Given the description of an element on the screen output the (x, y) to click on. 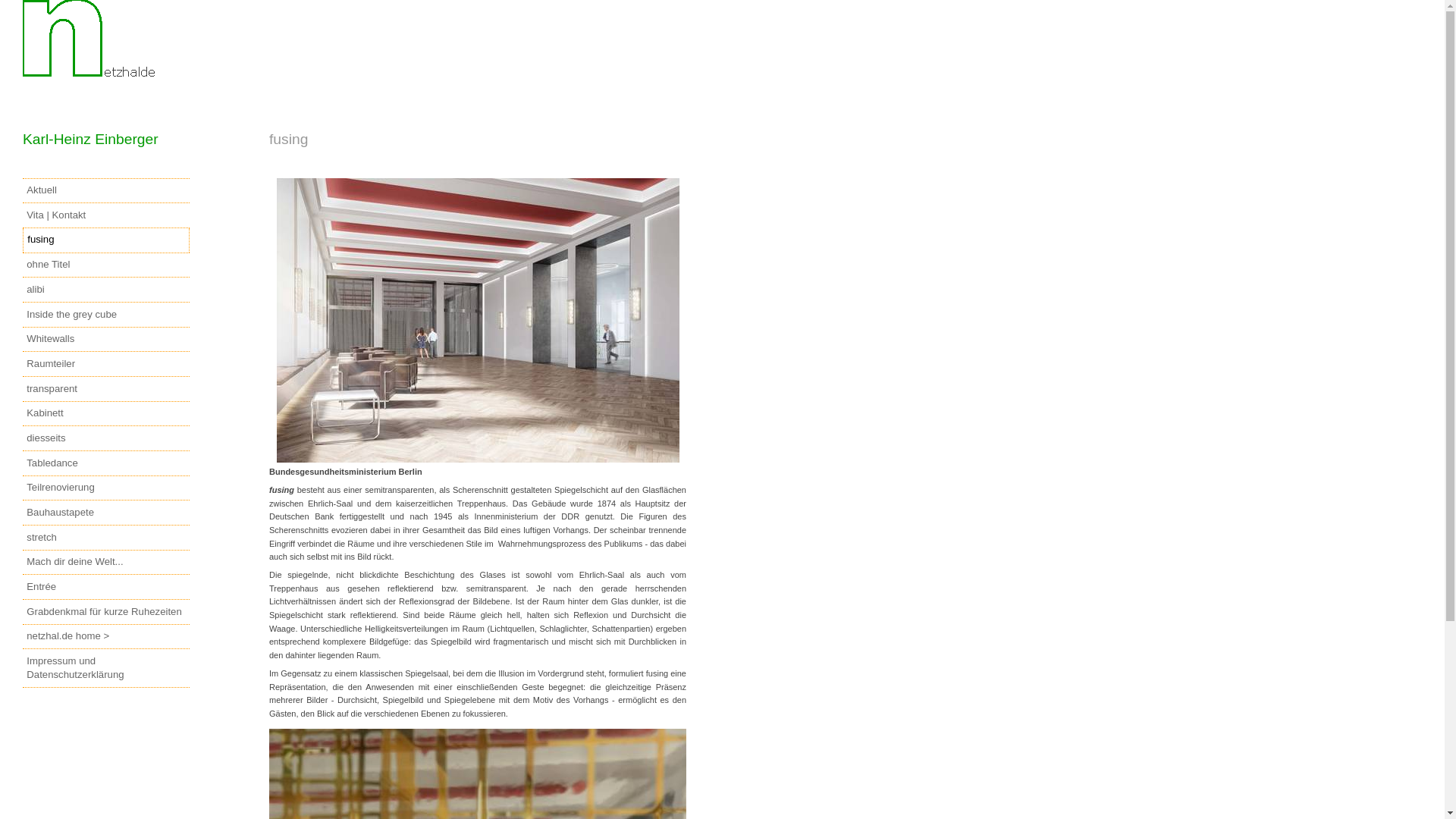
Bauhaustapete Element type: text (105, 512)
Whitewalls Element type: text (105, 339)
Kabinett Element type: text (105, 413)
Tabledance Element type: text (105, 463)
Vita | Kontakt Element type: text (105, 215)
stretch Element type: text (105, 537)
alibi Element type: text (105, 289)
ohne Titel Element type: text (105, 265)
Aktuell Element type: text (105, 190)
Inside the grey cube Element type: text (105, 314)
Raumteiler Element type: text (105, 363)
diesseits Element type: text (105, 438)
fusing Element type: text (105, 240)
Mach dir deine Welt... Element type: text (105, 562)
netzhal.de home > Element type: text (105, 636)
Teilrenovierung Element type: text (105, 488)
www.netzhal.de Element type: hover (94, 47)
transparent Element type: text (105, 388)
